Given the description of an element on the screen output the (x, y) to click on. 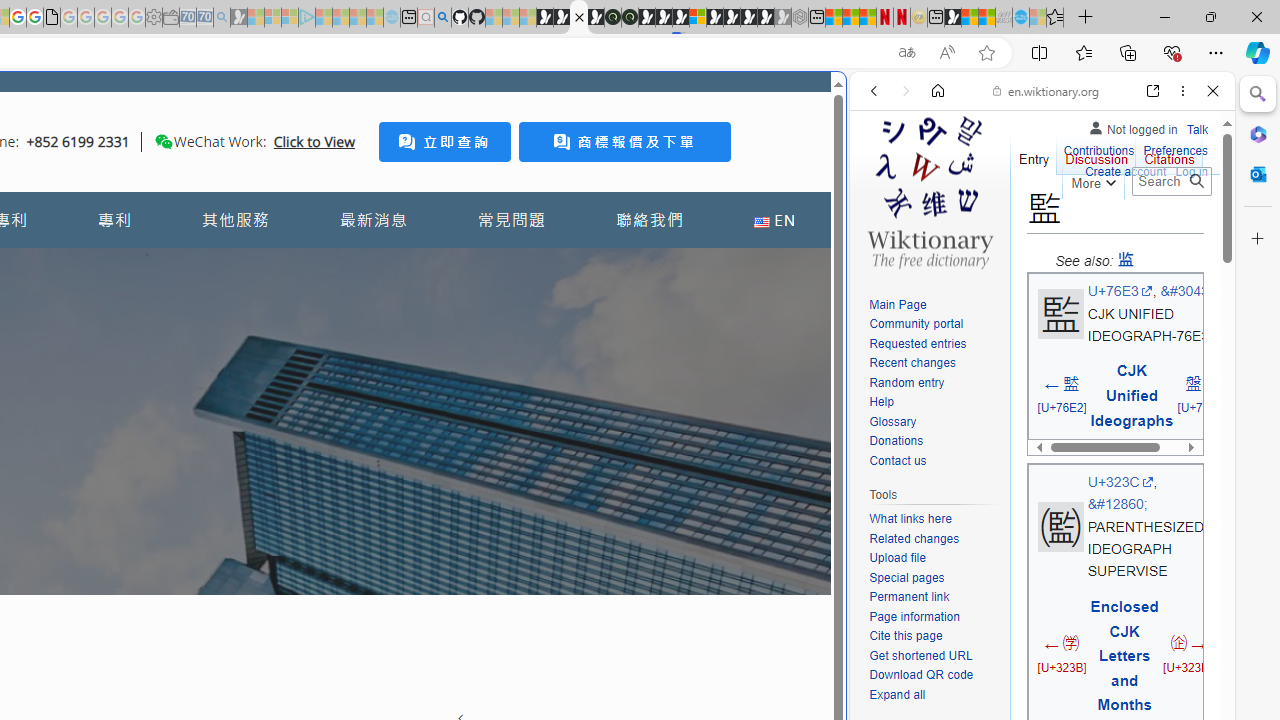
Contributions (1098, 151)
Page information (934, 616)
Recent changes (934, 363)
Play Zoo Boom in your browser | Games from Microsoft Start (561, 17)
Discussion (1096, 154)
Show translate options (906, 53)
